Given the description of an element on the screen output the (x, y) to click on. 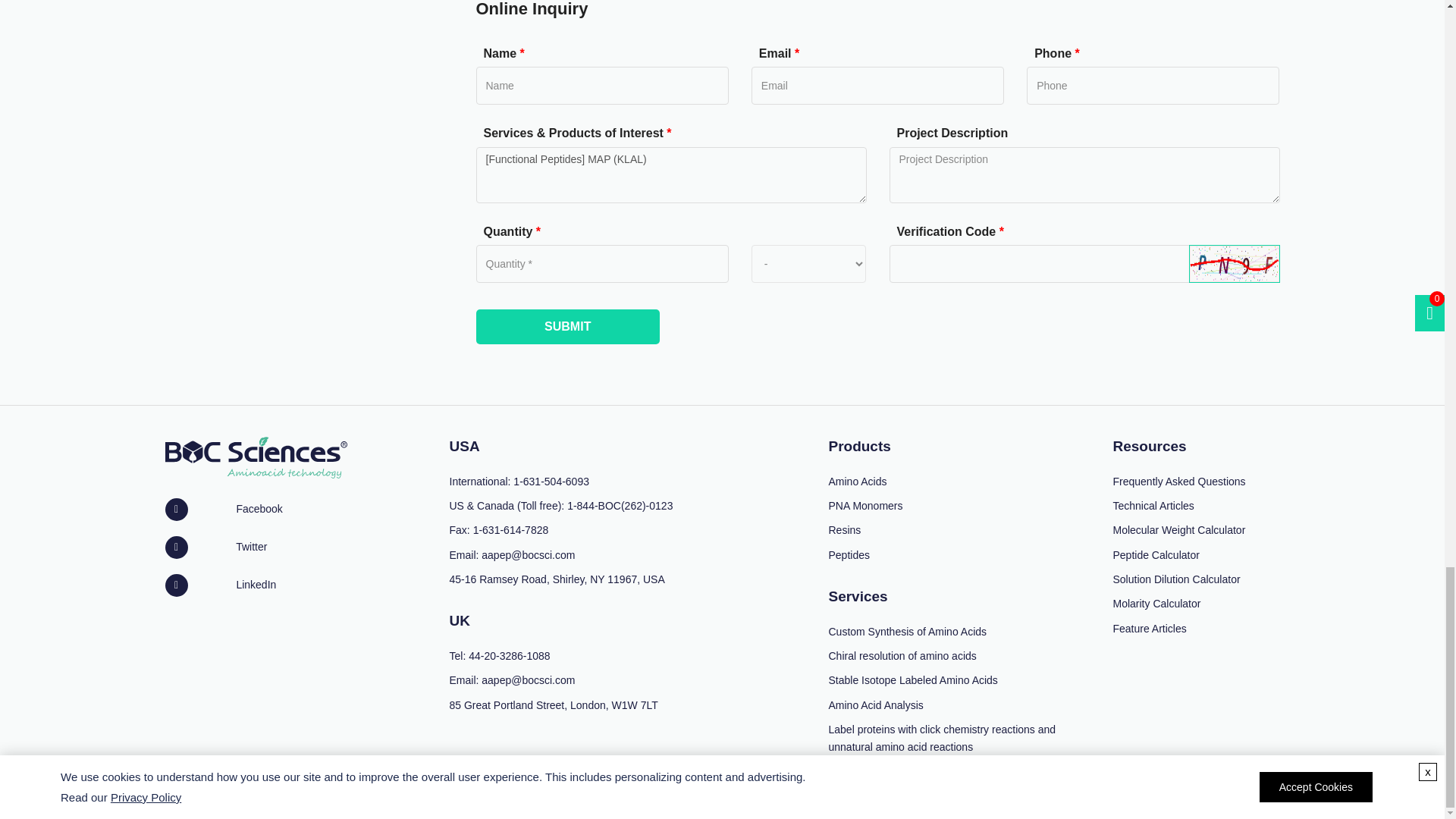
Click refresh (1234, 263)
